Given the description of an element on the screen output the (x, y) to click on. 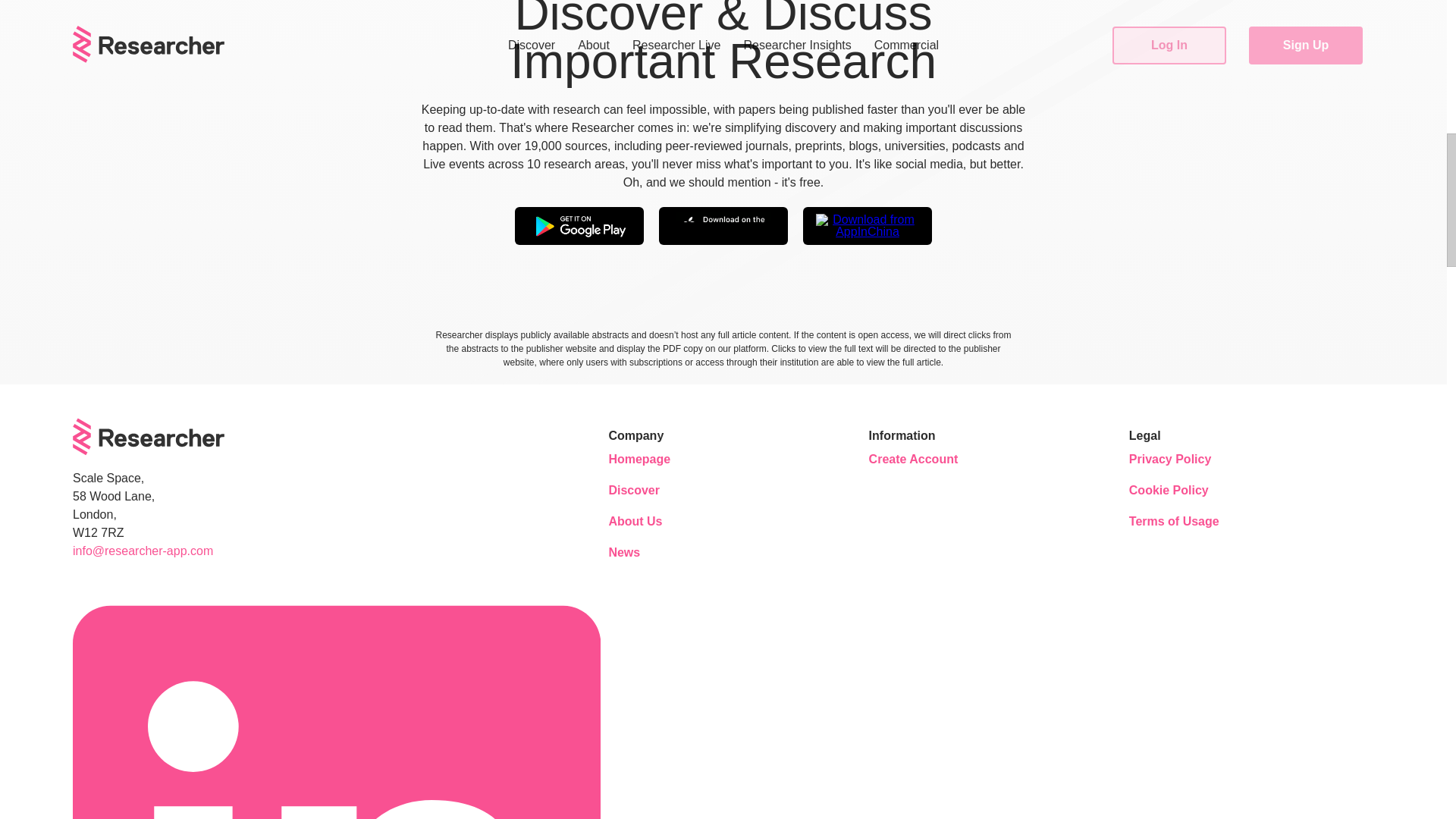
Discover (653, 490)
Cookie Policy (1173, 490)
Homepage (653, 459)
Terms of Usage (1173, 521)
Privacy Policy (1173, 459)
News (653, 552)
Create Account (914, 459)
About Us (653, 521)
